Given the description of an element on the screen output the (x, y) to click on. 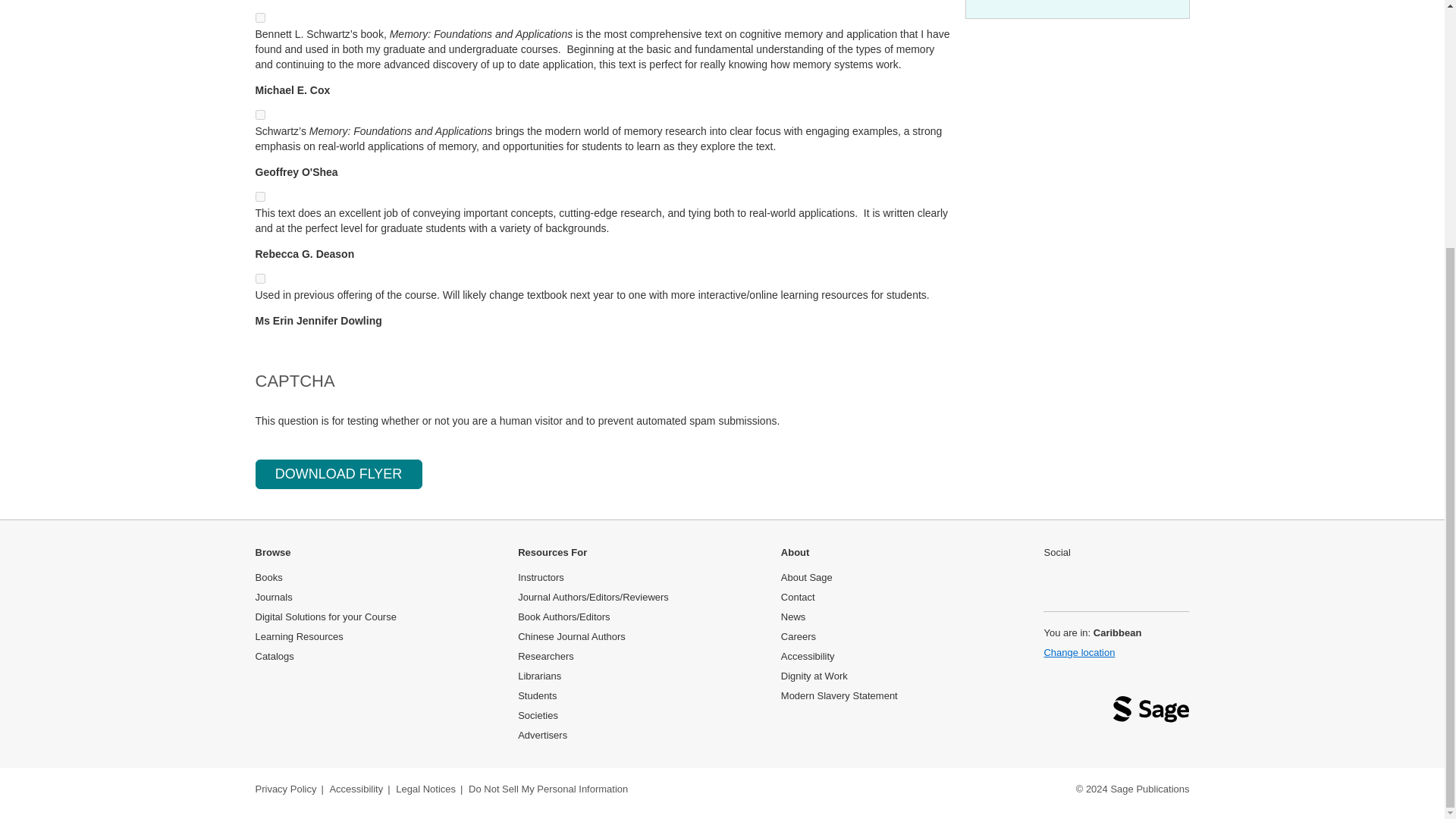
1567394 (259, 17)
Catalogs (274, 655)
Download flyer (338, 474)
1567396 (259, 196)
1567395 (259, 114)
1629673 (259, 278)
Sage logo: link back to homepage (1151, 712)
